Given the description of an element on the screen output the (x, y) to click on. 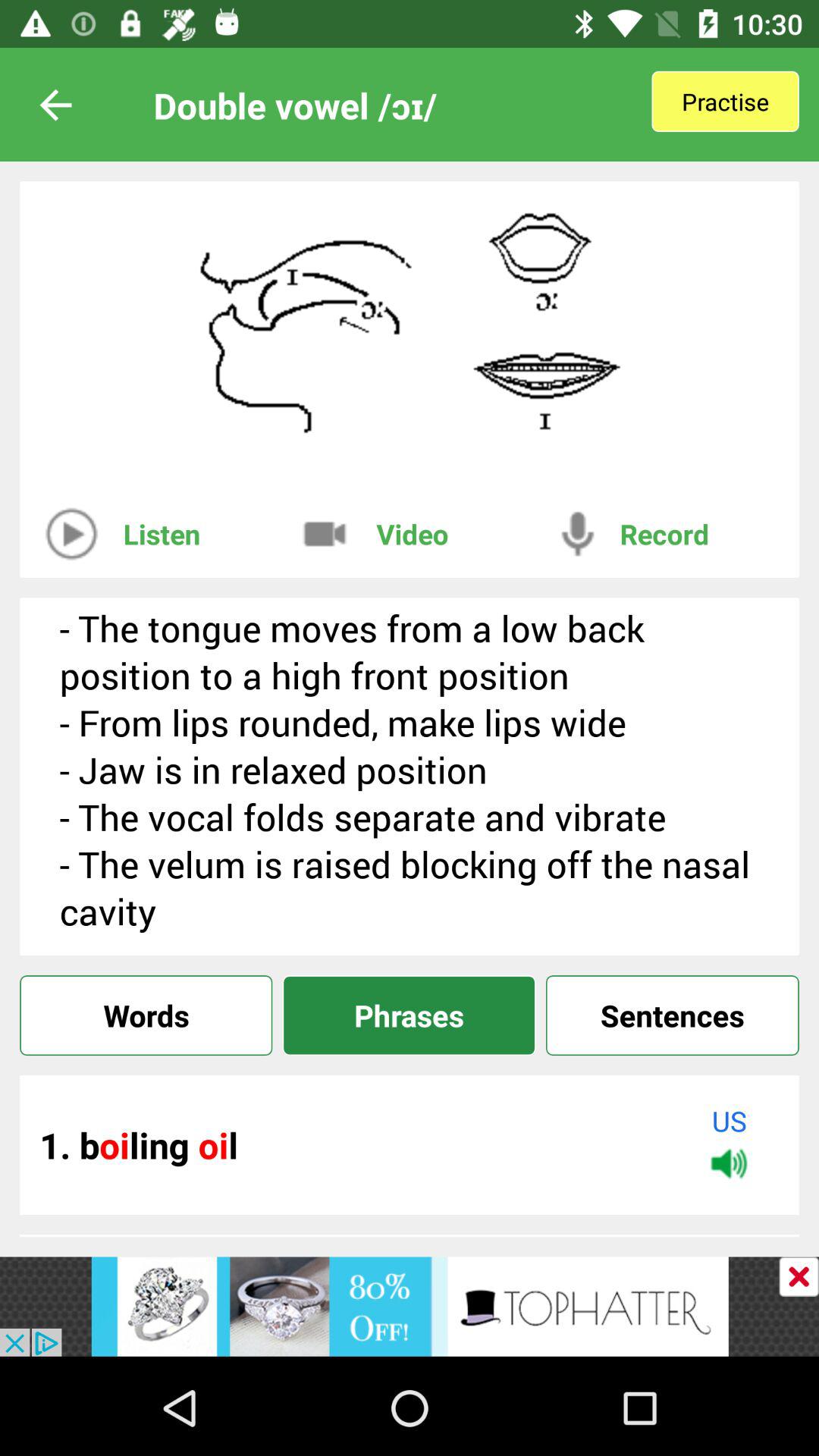
close adsvertisment (799, 1276)
